Given the description of an element on the screen output the (x, y) to click on. 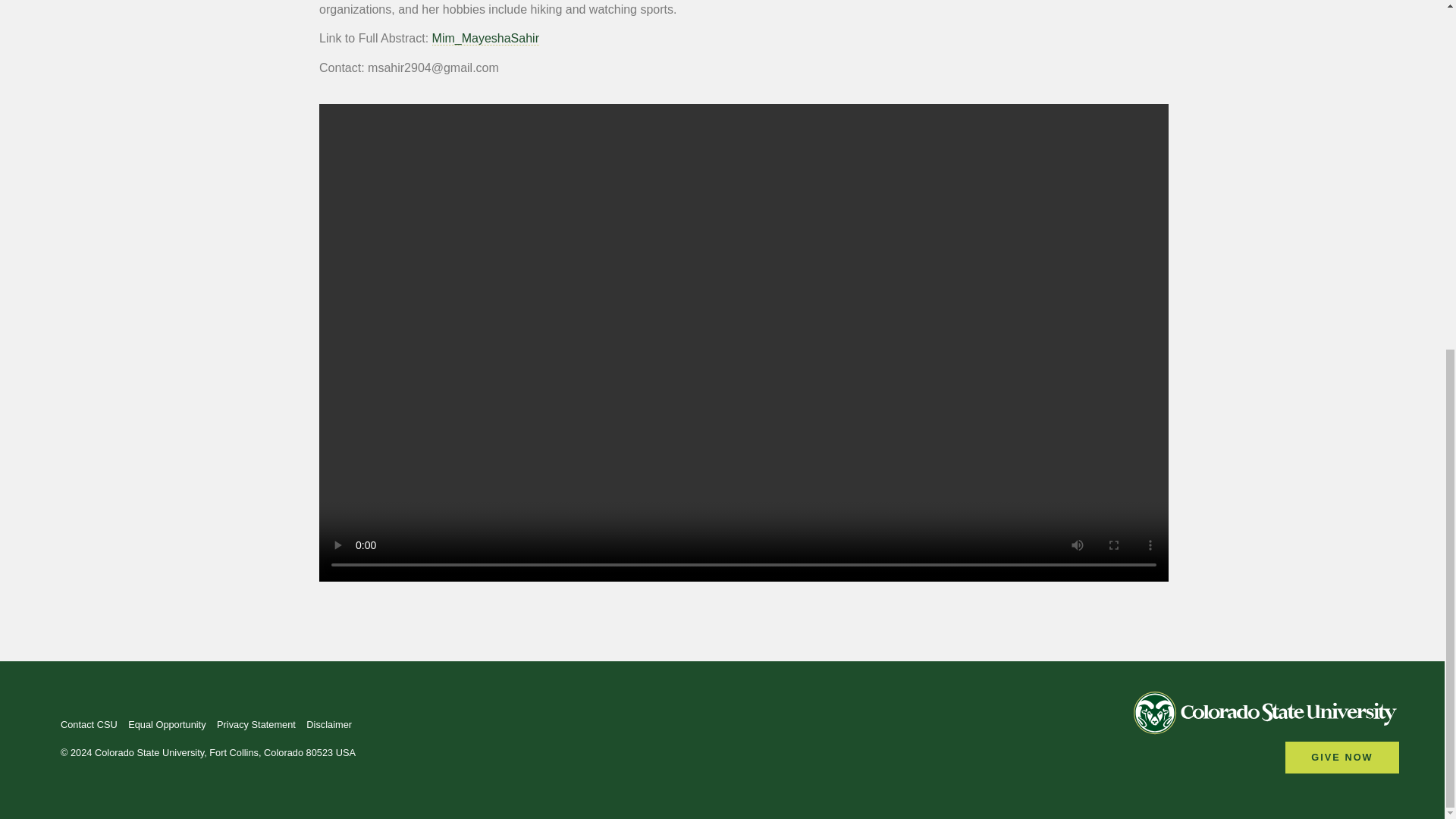
Disclaimer (328, 724)
GIVE NOW (1342, 757)
Give Now (1342, 757)
Equal Opportunity (166, 724)
Colorado State University (1266, 716)
Privacy Statement (255, 724)
Contact CSU (89, 724)
